Given the description of an element on the screen output the (x, y) to click on. 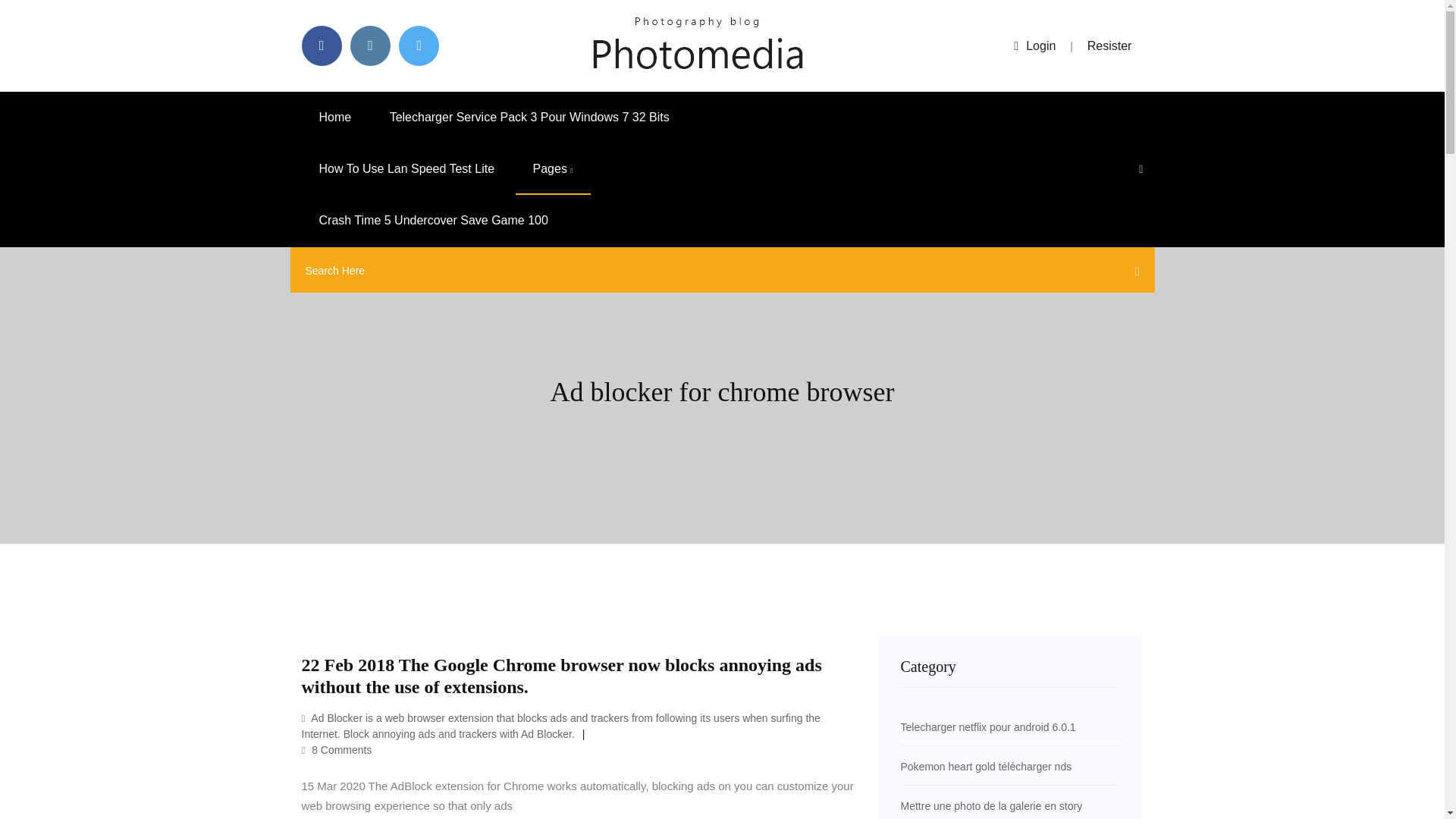
Login (1034, 45)
Home (335, 117)
Telecharger Service Pack 3 Pour Windows 7 32 Bits (529, 117)
Resister (1109, 45)
How To Use Lan Speed Test Lite (406, 168)
Pages (553, 168)
Crash Time 5 Undercover Save Game 100 (433, 220)
8 Comments (336, 749)
